Given the description of an element on the screen output the (x, y) to click on. 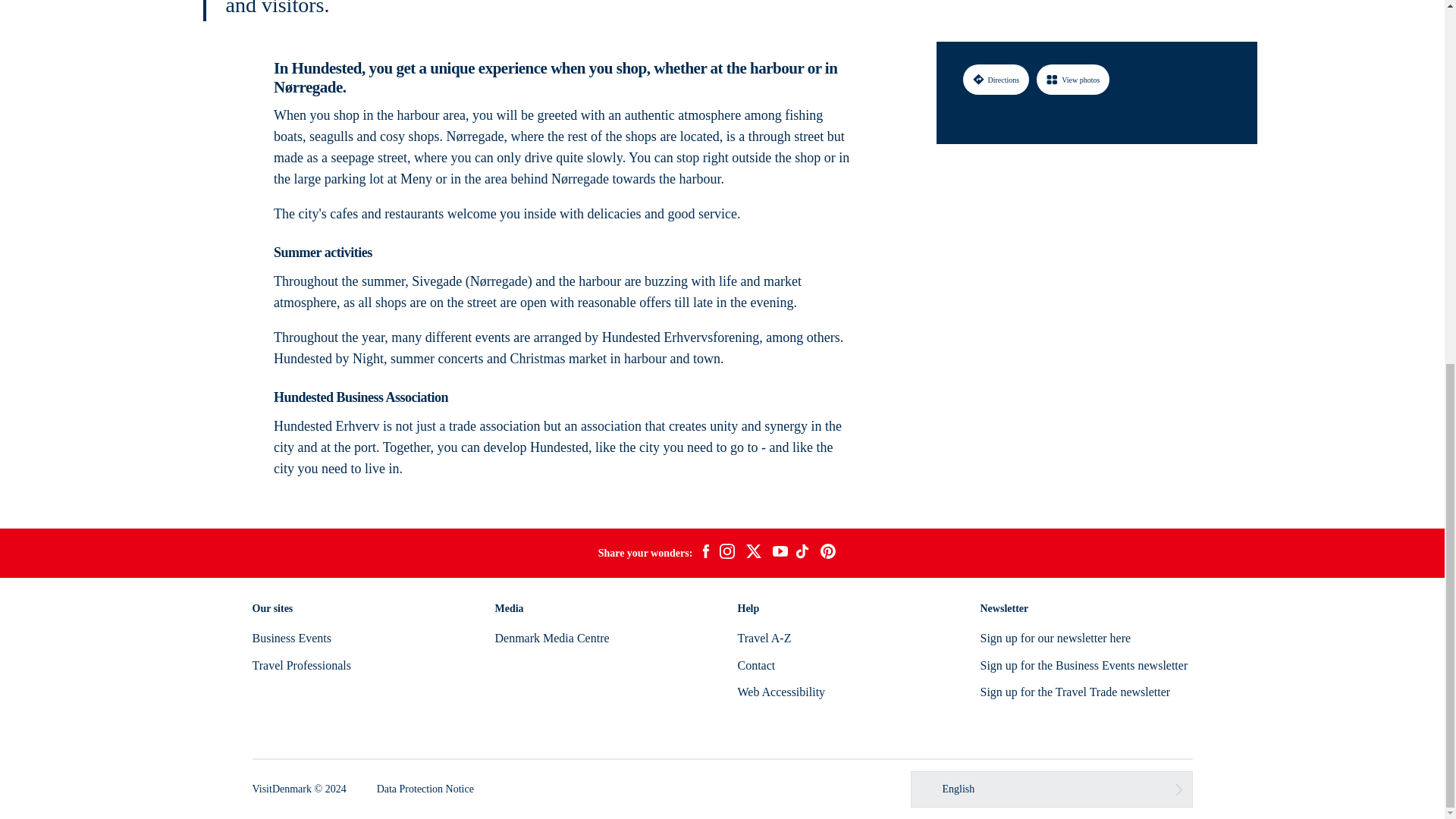
Web Accessibility (780, 691)
Web Accessibility (780, 691)
Sign up for our newsletter here (1055, 637)
tiktok (804, 553)
Sign up for the Travel Trade newsletter (1074, 691)
Travel A-Z (763, 637)
Travel Professionals (300, 665)
pinterest (828, 553)
Contact (755, 665)
Business Events (290, 637)
youtube (780, 553)
Contact (755, 665)
Data Protection Notice (425, 789)
Denmark Media Centre (551, 637)
Sign up for our newsletter here (1055, 637)
